Given the description of an element on the screen output the (x, y) to click on. 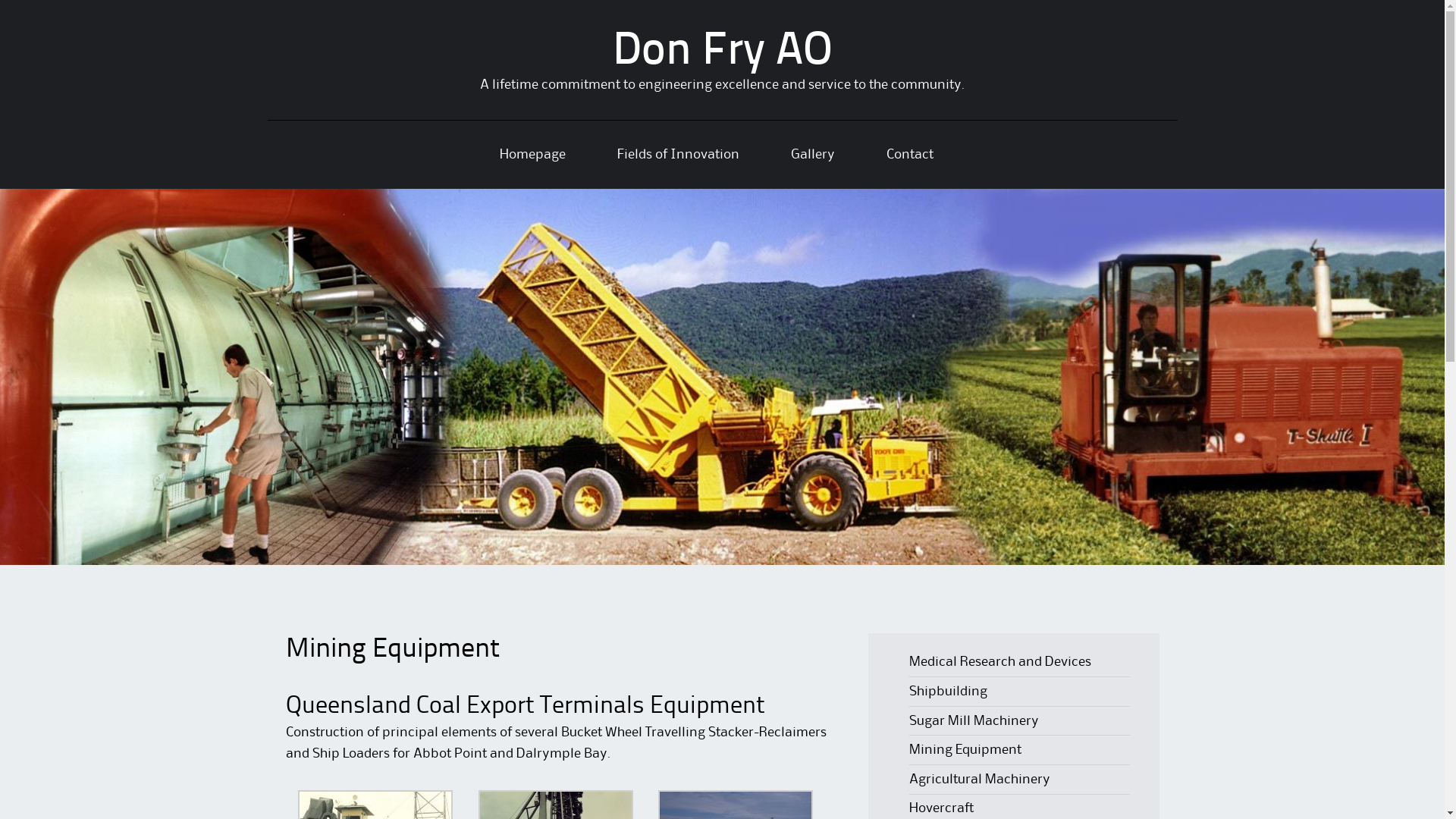
Mining Equipment Element type: text (965, 749)
Contact Element type: text (908, 154)
Medical Research and Devices Element type: text (1000, 661)
Sugar Mill Machinery Element type: text (973, 721)
Gallery Element type: text (812, 154)
Skip to content Element type: text (312, 144)
Don Fry AO Element type: text (722, 52)
Homepage Element type: text (531, 154)
Shipbuilding Element type: text (948, 691)
Fields of Innovation Element type: text (678, 154)
Agricultural Machinery Element type: text (979, 779)
Hovercraft Element type: text (941, 808)
